Given the description of an element on the screen output the (x, y) to click on. 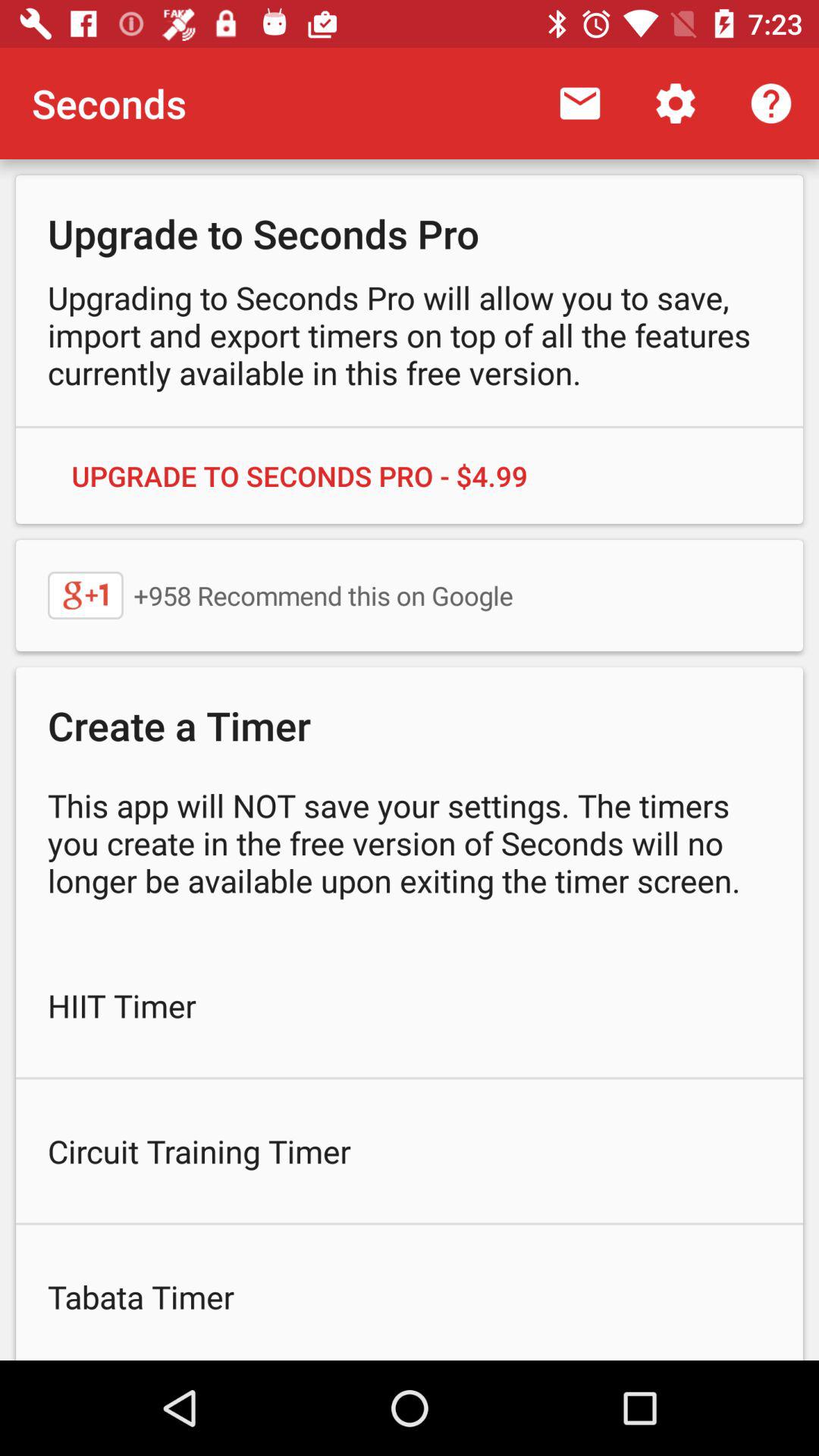
swipe until hiit timer item (409, 1005)
